Given the description of an element on the screen output the (x, y) to click on. 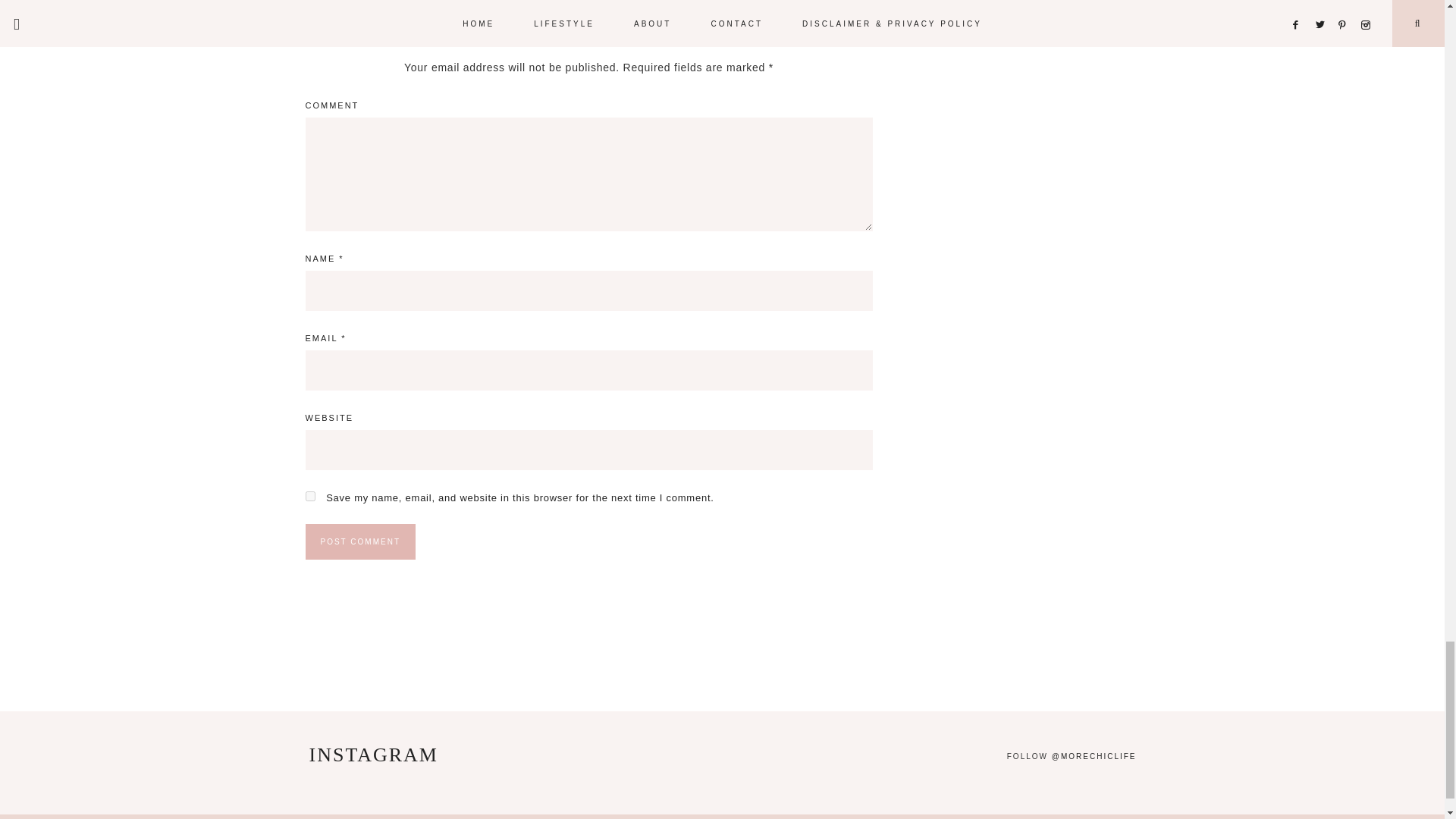
yes (309, 496)
Post Comment (359, 541)
